Given the description of an element on the screen output the (x, y) to click on. 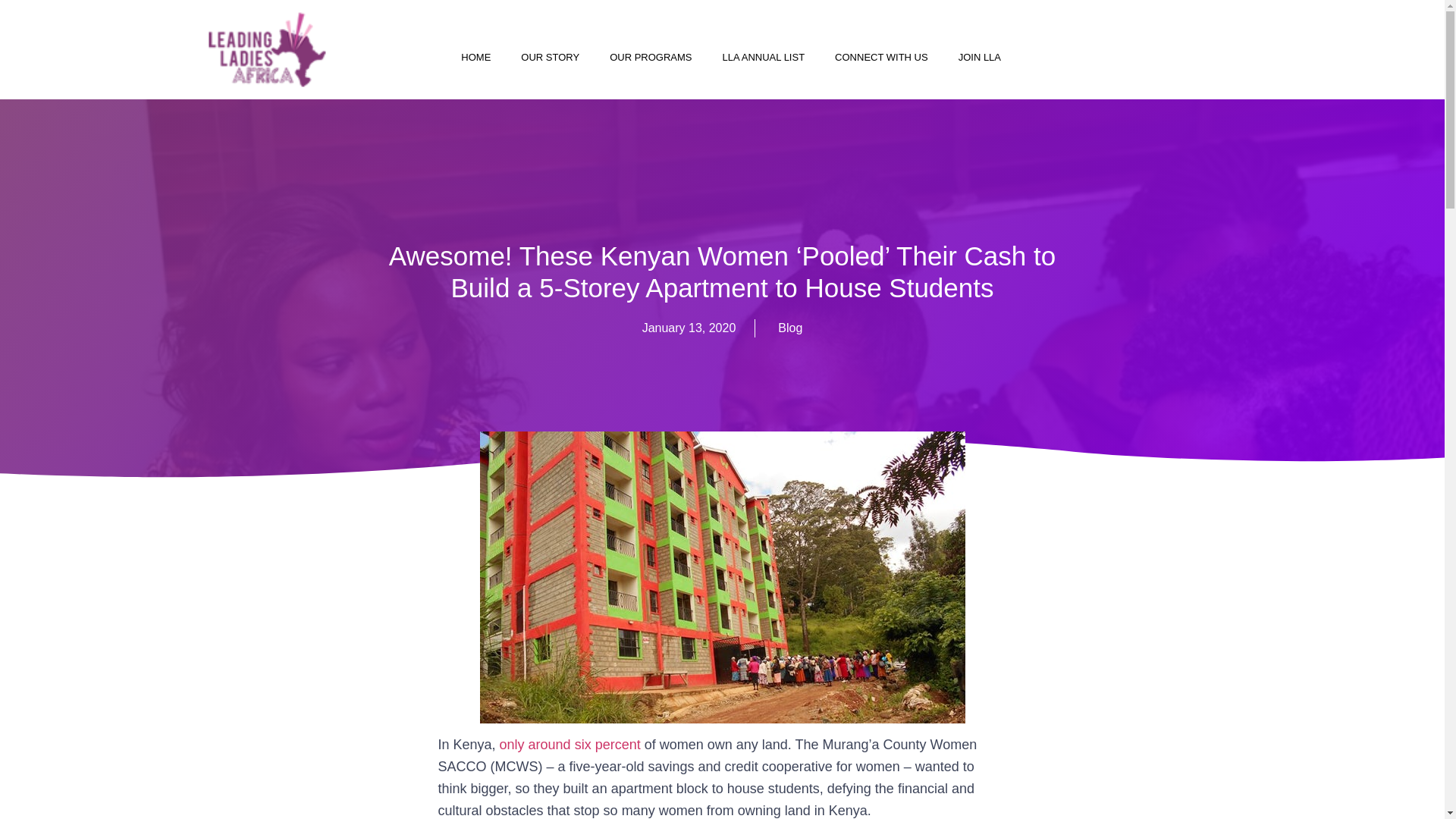
HOME (475, 57)
LLA ANNUAL LIST (762, 57)
only around six percent (569, 744)
JOIN LLA (979, 57)
CONNECT WITH US (881, 57)
OUR STORY (549, 57)
Blog (789, 327)
January 13, 2020 (689, 328)
OUR PROGRAMS (650, 57)
